Given the description of an element on the screen output the (x, y) to click on. 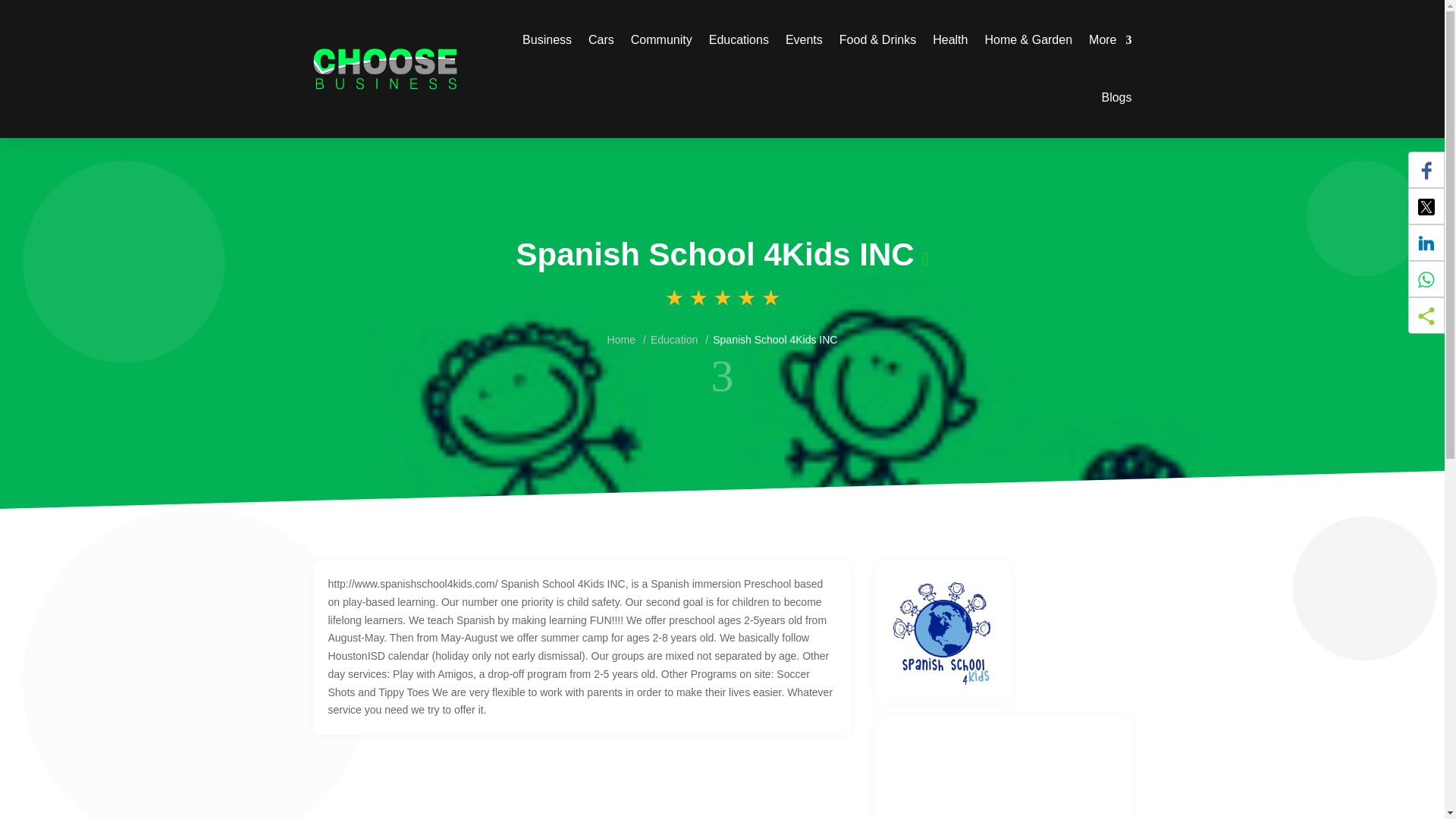
Home (620, 339)
Community (661, 39)
Five Star Icons (721, 298)
ls (722, 372)
Educations (738, 39)
